Given the description of an element on the screen output the (x, y) to click on. 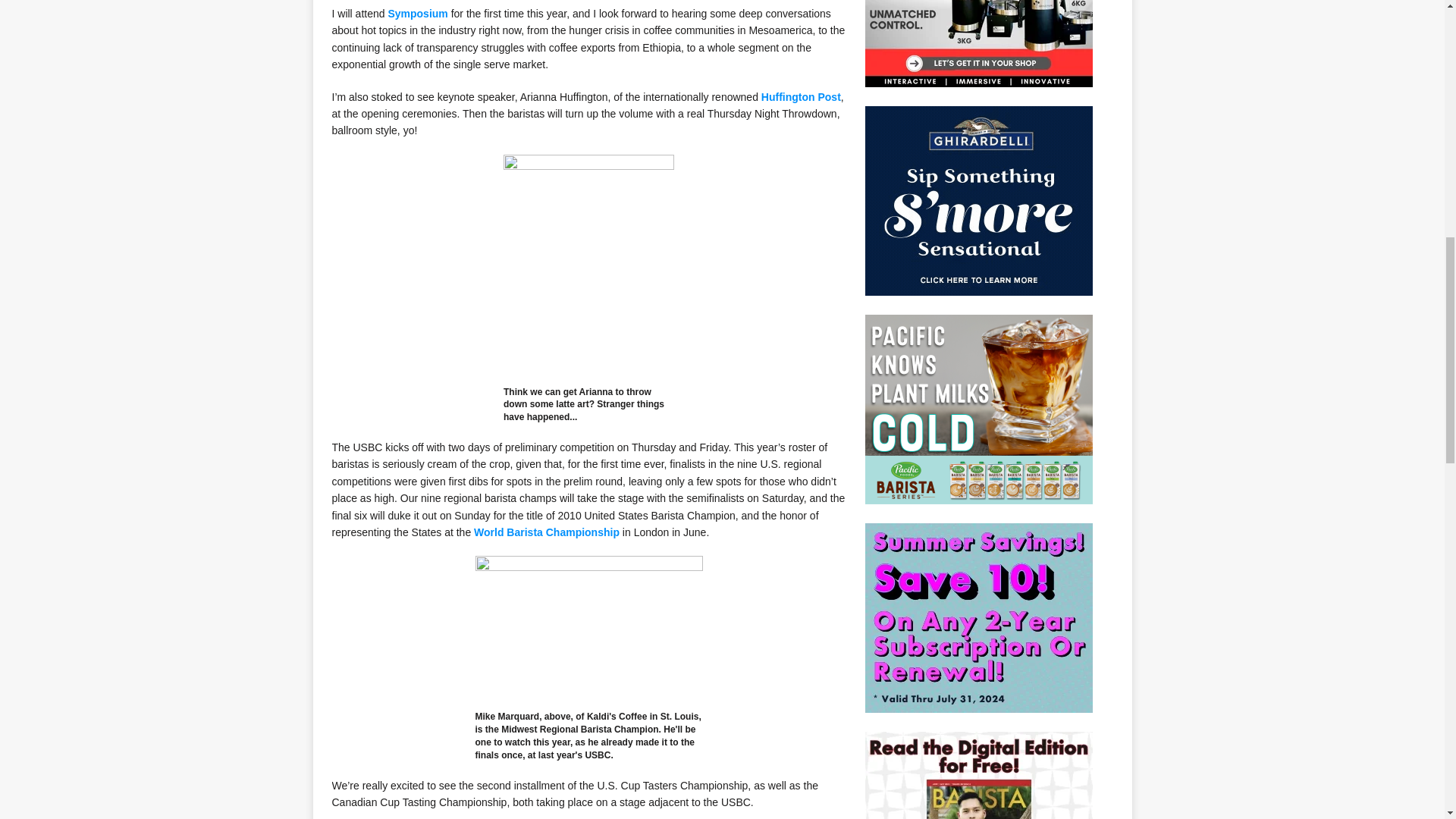
mikem (589, 631)
